Given the description of an element on the screen output the (x, y) to click on. 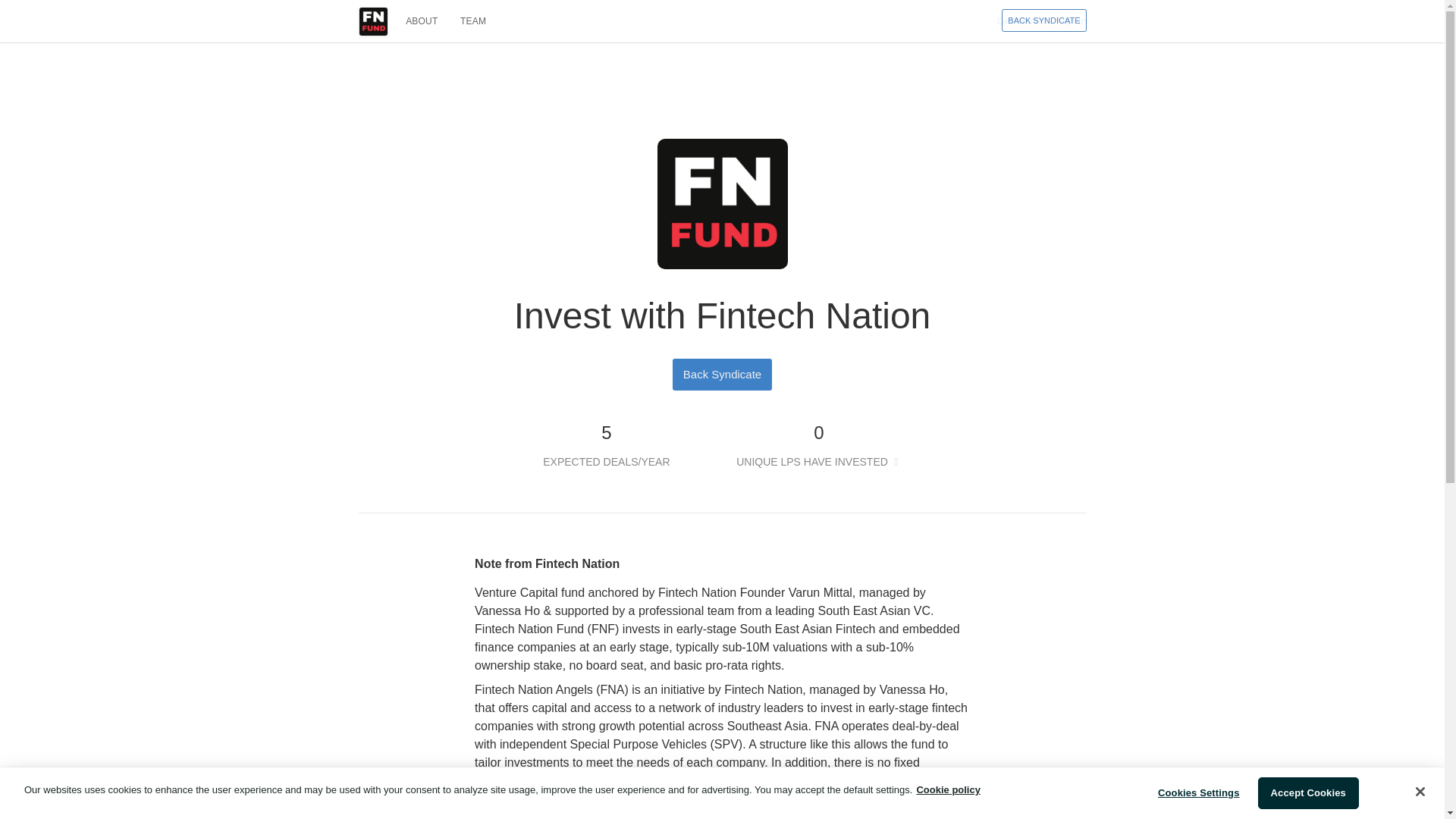
Cookie policy (947, 789)
Accept Cookies (1307, 793)
Get Started (1021, 20)
TEAM (472, 21)
Sign In (1070, 20)
Back Syndicate (721, 373)
Cookies Settings (1198, 793)
BACK SYNDICATE (1043, 20)
ABOUT (421, 21)
